Given the description of an element on the screen output the (x, y) to click on. 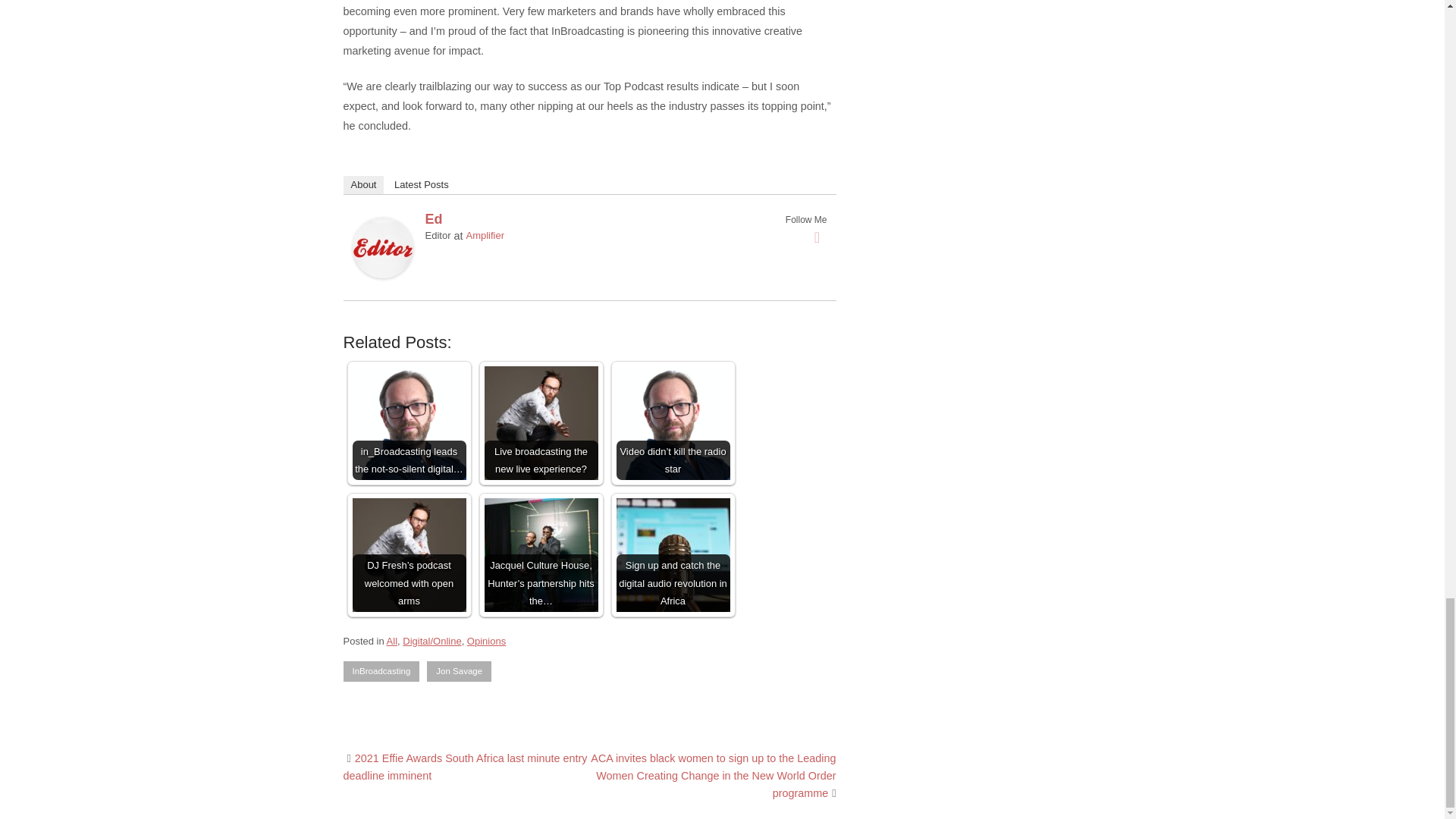
Sign up and catch the digital audio revolution in Africa (672, 554)
About (363, 185)
Ed (433, 218)
Ed (382, 274)
Twitter (817, 237)
Live broadcasting the new live experience? (539, 422)
Latest Posts (422, 185)
